Given the description of an element on the screen output the (x, y) to click on. 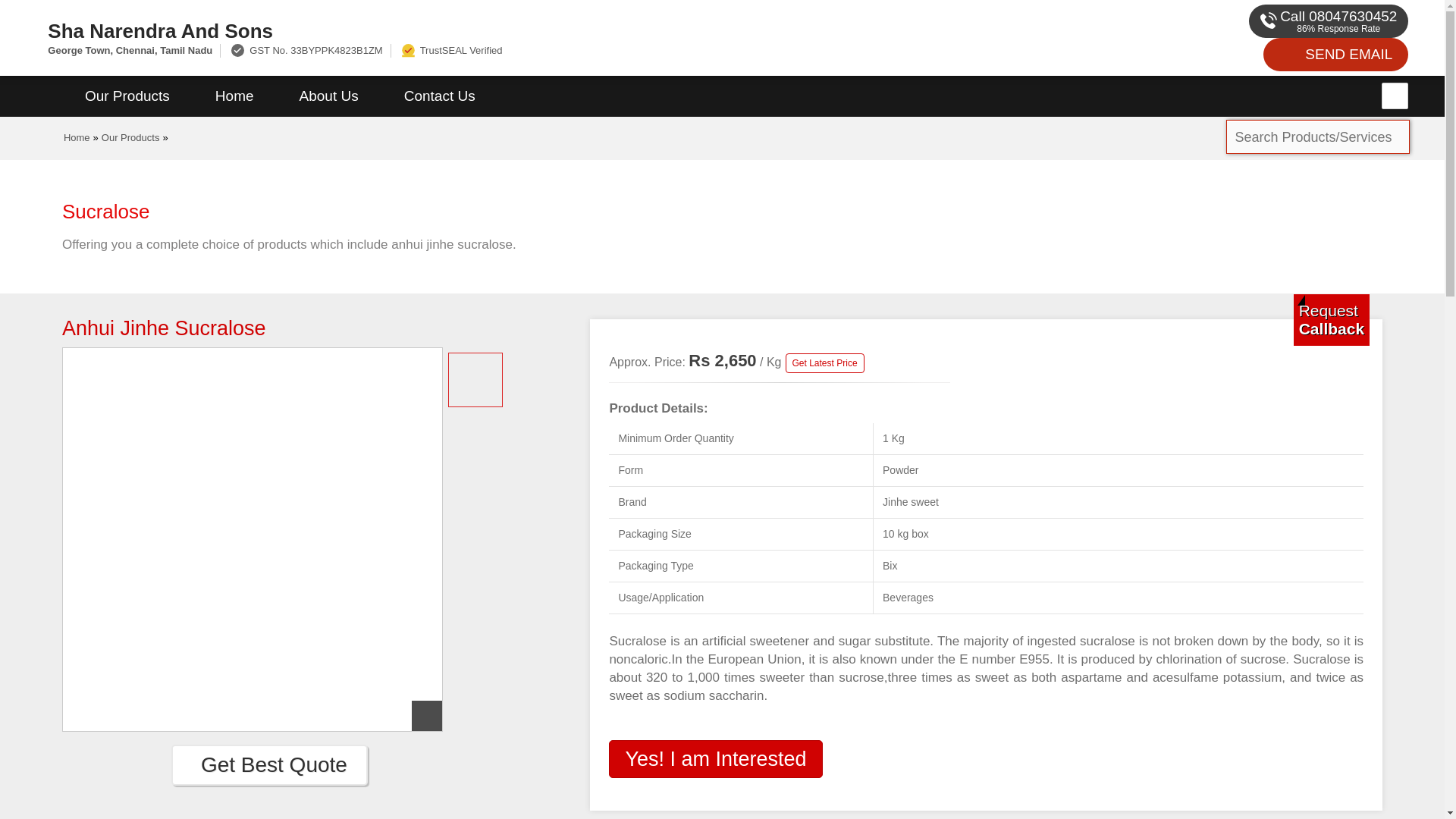
Sha Narendra And Sons (485, 31)
Our Products (127, 96)
Get a Call from us (1332, 319)
